Given the description of an element on the screen output the (x, y) to click on. 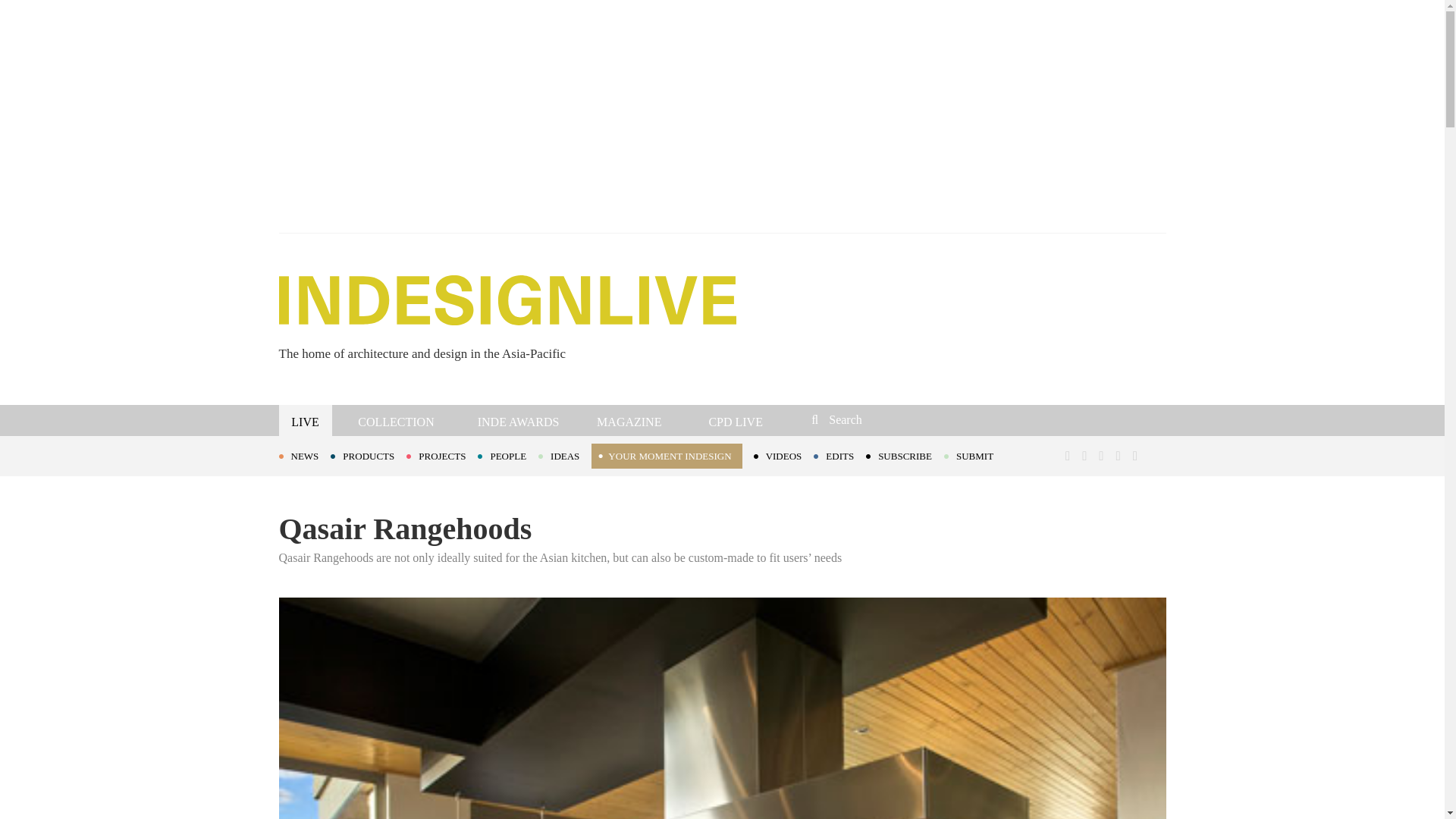
SUBSCRIBE (904, 455)
VIDEOS (783, 455)
NEWS (305, 455)
Search (913, 418)
EDITS (839, 455)
PEOPLE (507, 455)
PRODUCTS (368, 455)
YOUR MOMENT INDESIGN (666, 455)
SUBMIT (974, 455)
